Given the description of an element on the screen output the (x, y) to click on. 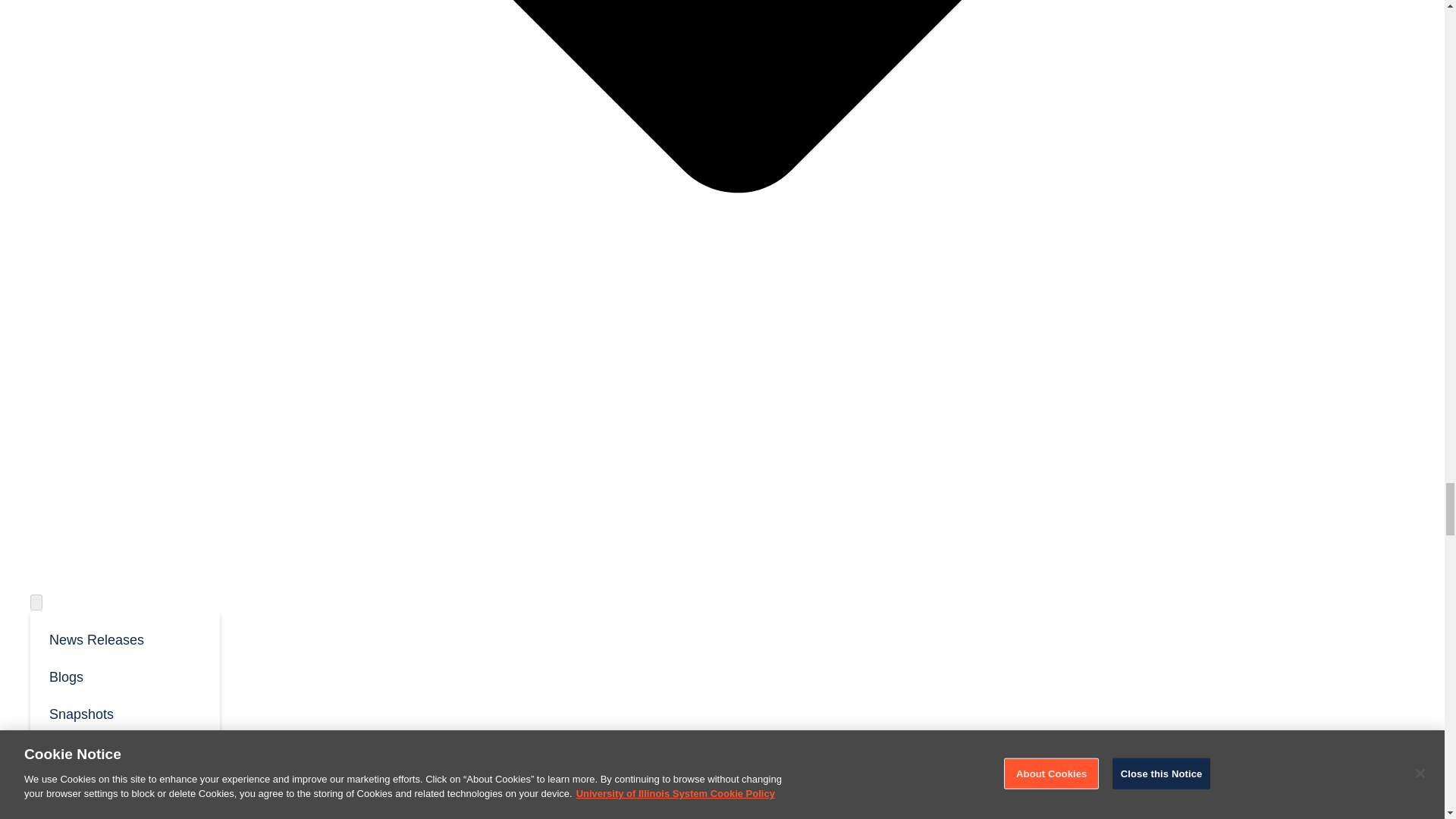
Social Media (125, 750)
Snapshots (125, 713)
Contact (53, 798)
Blogs (125, 675)
News Releases (125, 638)
